Given the description of an element on the screen output the (x, y) to click on. 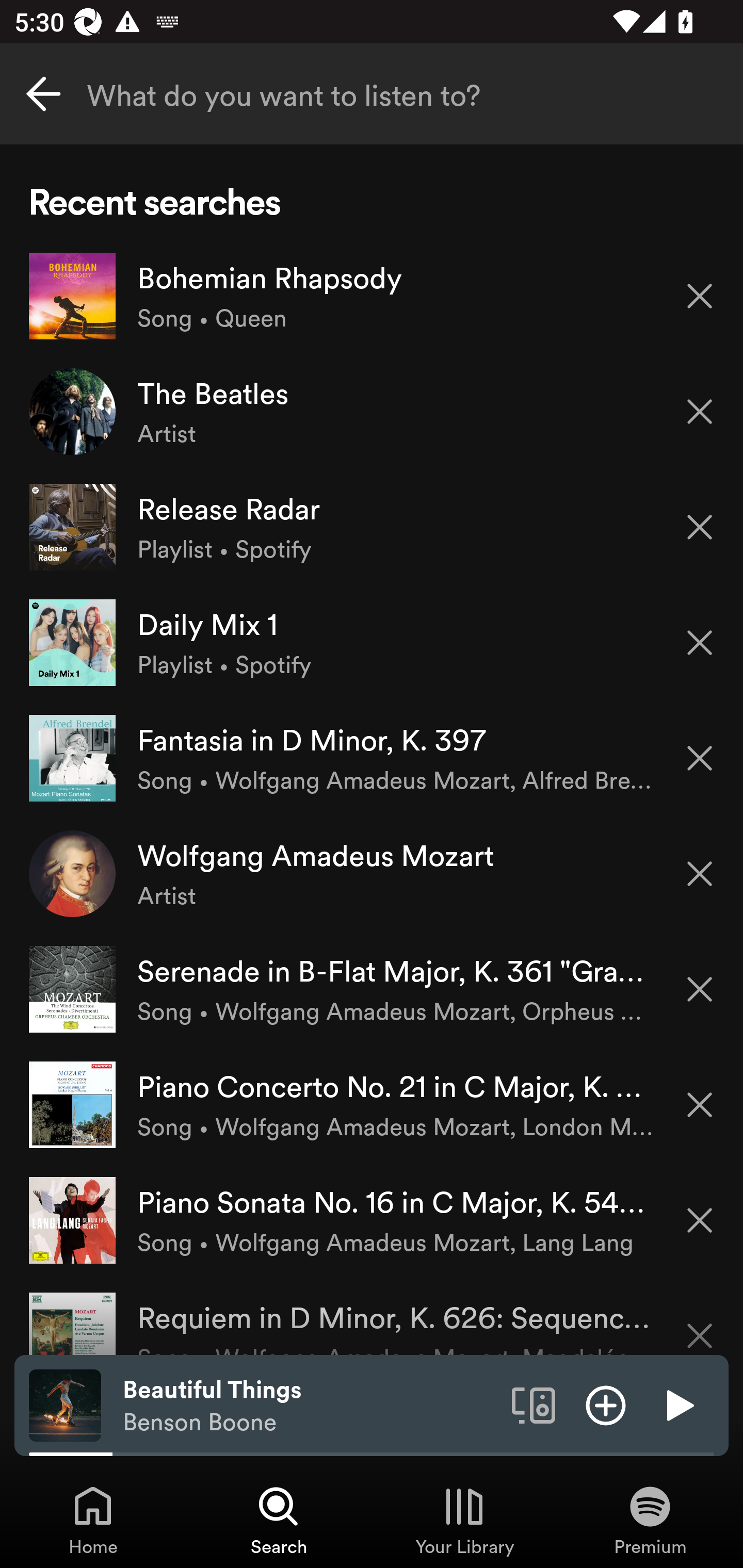
What do you want to listen to? (371, 93)
Cancel (43, 93)
Bohemian Rhapsody Song • Queen Remove (371, 296)
Remove (699, 295)
The Beatles Artist Remove (371, 411)
Remove (699, 411)
Release Radar Playlist • Spotify Remove (371, 526)
Remove (699, 527)
Daily Mix 1 Playlist • Spotify Remove (371, 642)
Remove (699, 642)
Remove (699, 758)
Wolfgang Amadeus Mozart Artist Remove (371, 873)
Remove (699, 874)
Remove (699, 989)
Remove (699, 1104)
Remove (699, 1220)
Remove (699, 1323)
Beautiful Things Benson Boone (309, 1405)
The cover art of the currently playing track (64, 1404)
Connect to a device. Opens the devices menu (533, 1404)
Add item (605, 1404)
Play (677, 1404)
Home, Tab 1 of 4 Home Home (92, 1519)
Search, Tab 2 of 4 Search Search (278, 1519)
Your Library, Tab 3 of 4 Your Library Your Library (464, 1519)
Premium, Tab 4 of 4 Premium Premium (650, 1519)
